Given the description of an element on the screen output the (x, y) to click on. 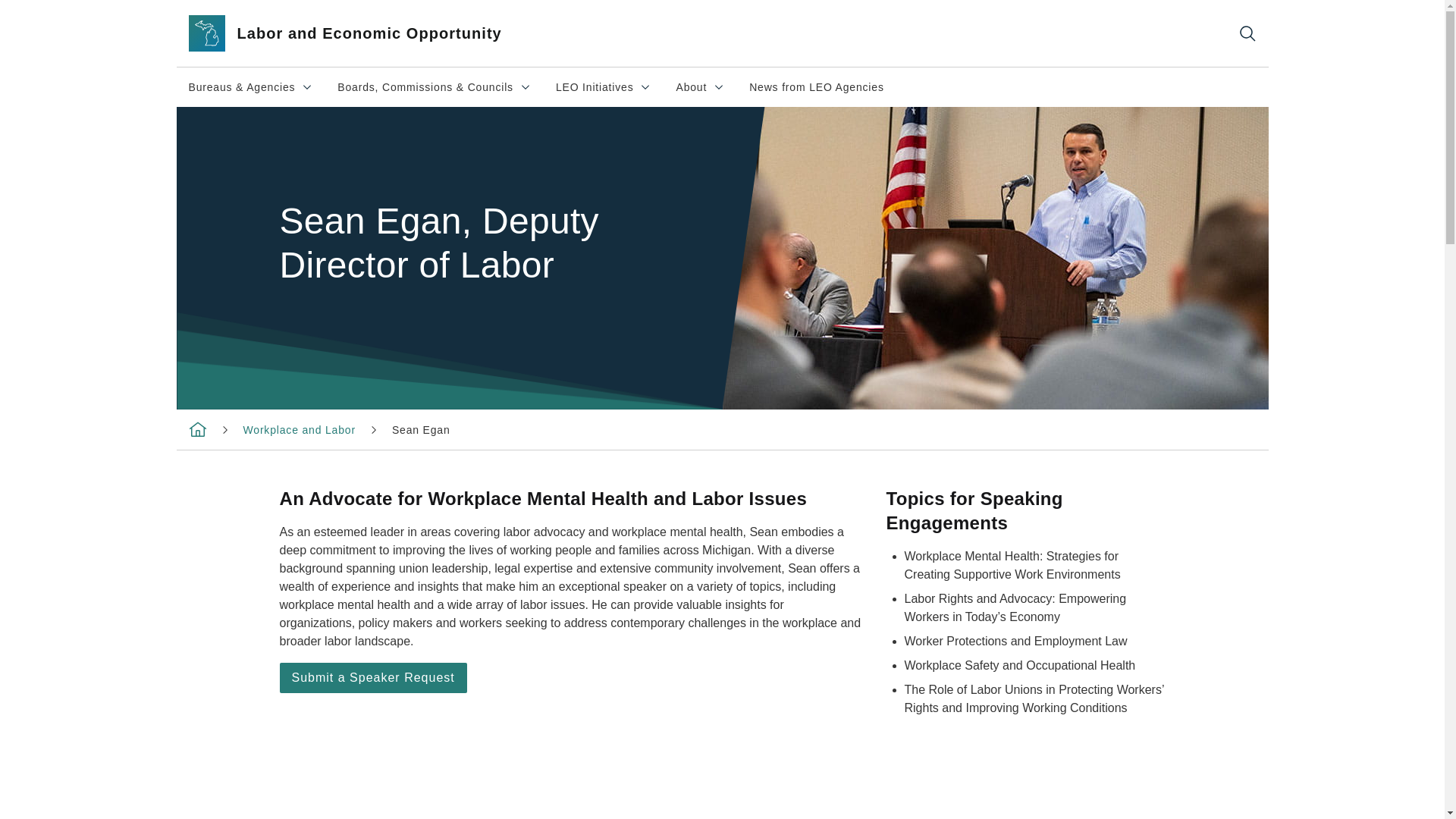
Labor and Economic Opportunity (362, 33)
Workplace and Labor (603, 87)
Sean Egan (299, 429)
Labor and Economic Opportunity (420, 429)
News from LEO Agencies (699, 87)
Speaker Request form opens in new window (196, 428)
